Given the description of an element on the screen output the (x, y) to click on. 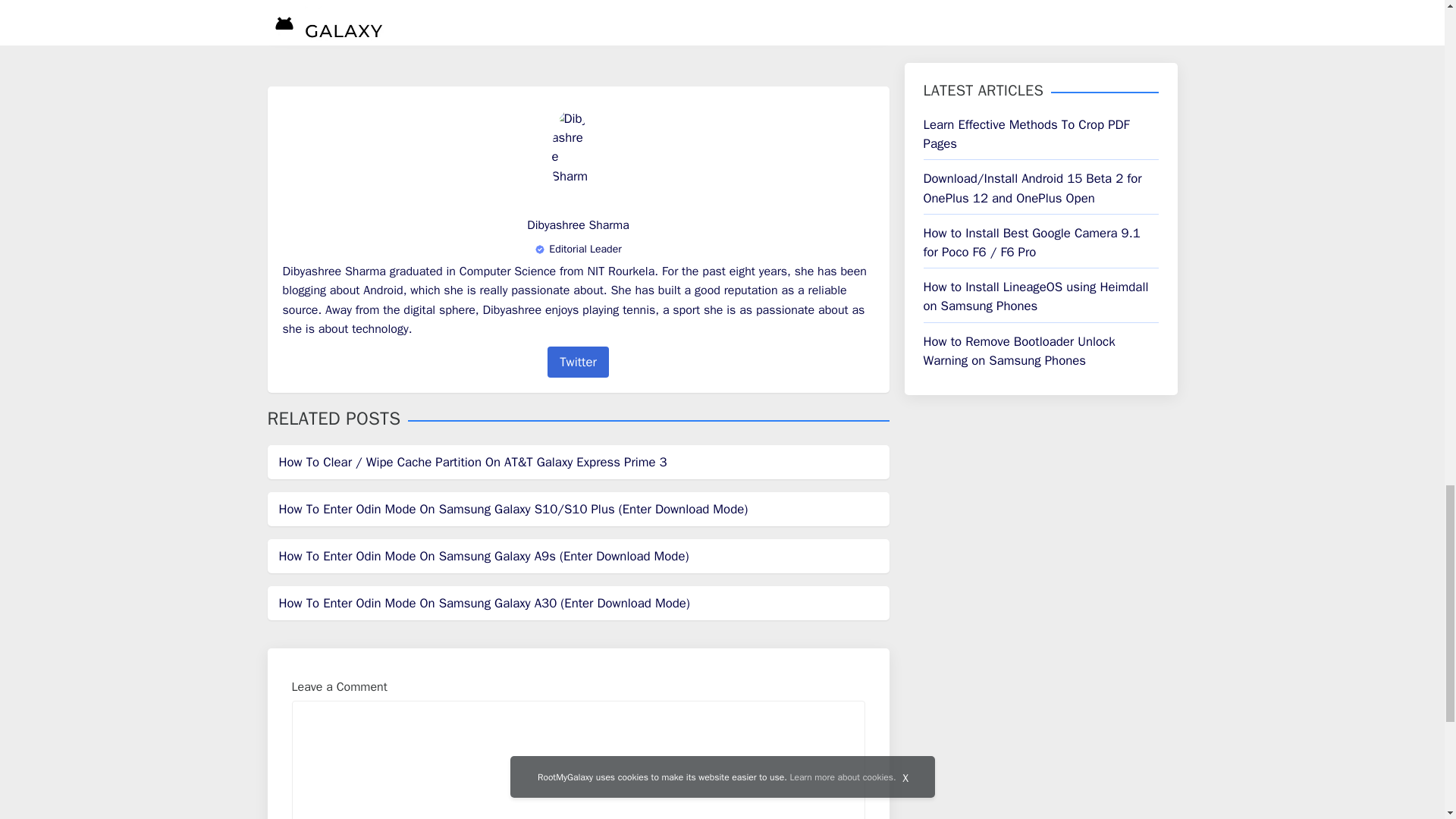
Enter Odin Mode (577, 2)
Twitter (577, 361)
Enter Download Mode (490, 2)
